Given the description of an element on the screen output the (x, y) to click on. 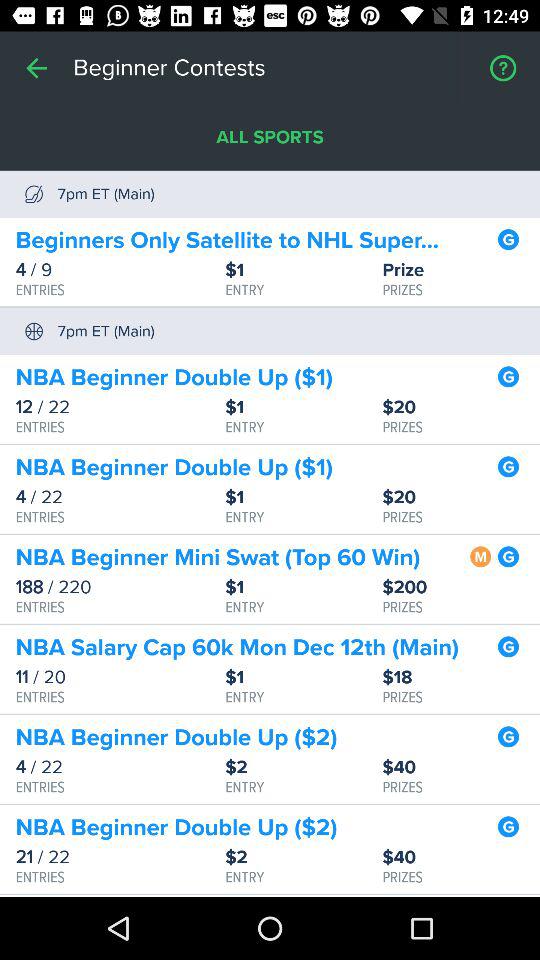
choose item above the $200 icon (480, 554)
